Given the description of an element on the screen output the (x, y) to click on. 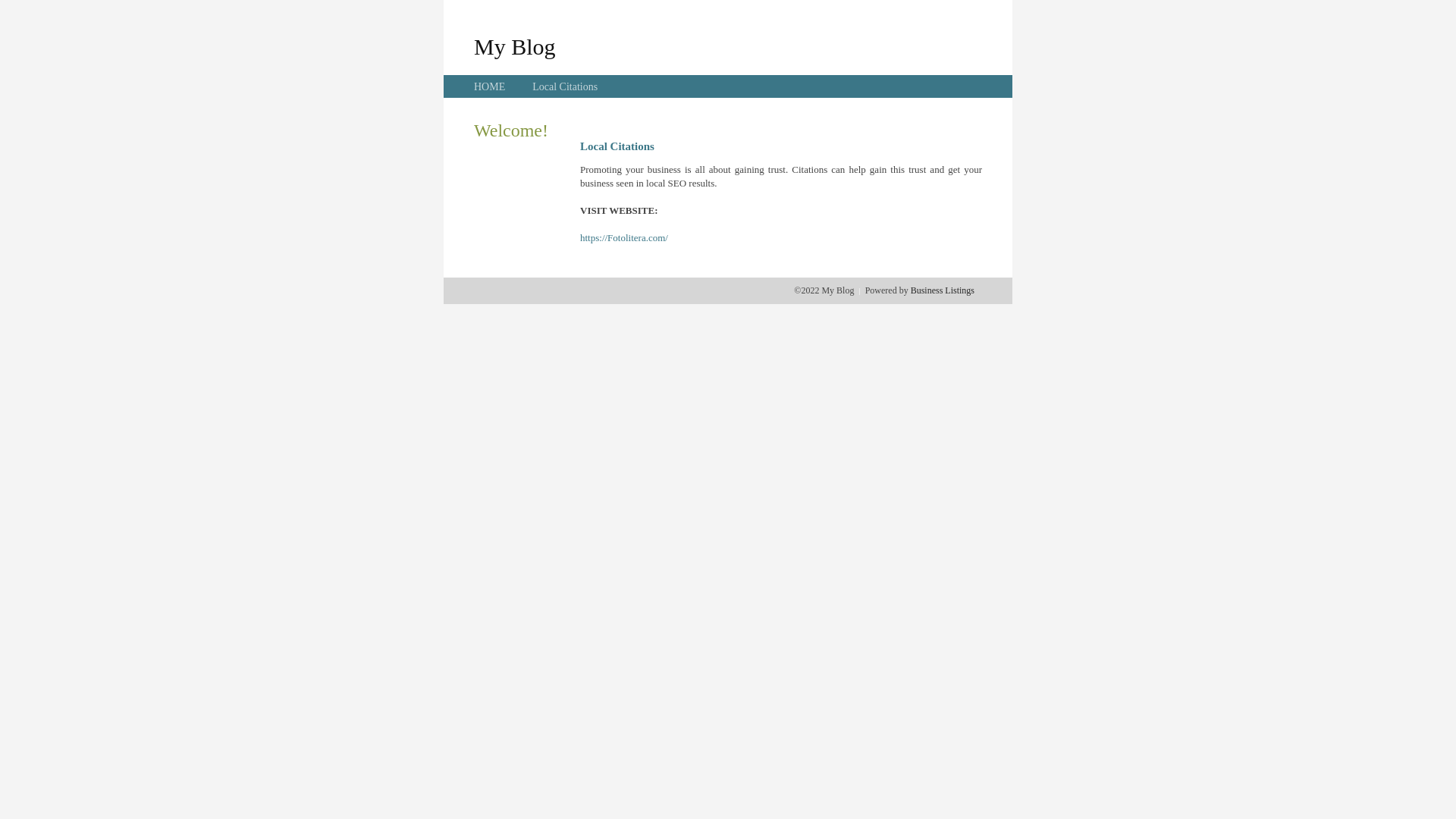
Local Citations Element type: text (564, 86)
HOME Element type: text (489, 86)
https://Fotolitera.com/ Element type: text (624, 237)
My Blog Element type: text (514, 46)
Business Listings Element type: text (942, 290)
